Given the description of an element on the screen output the (x, y) to click on. 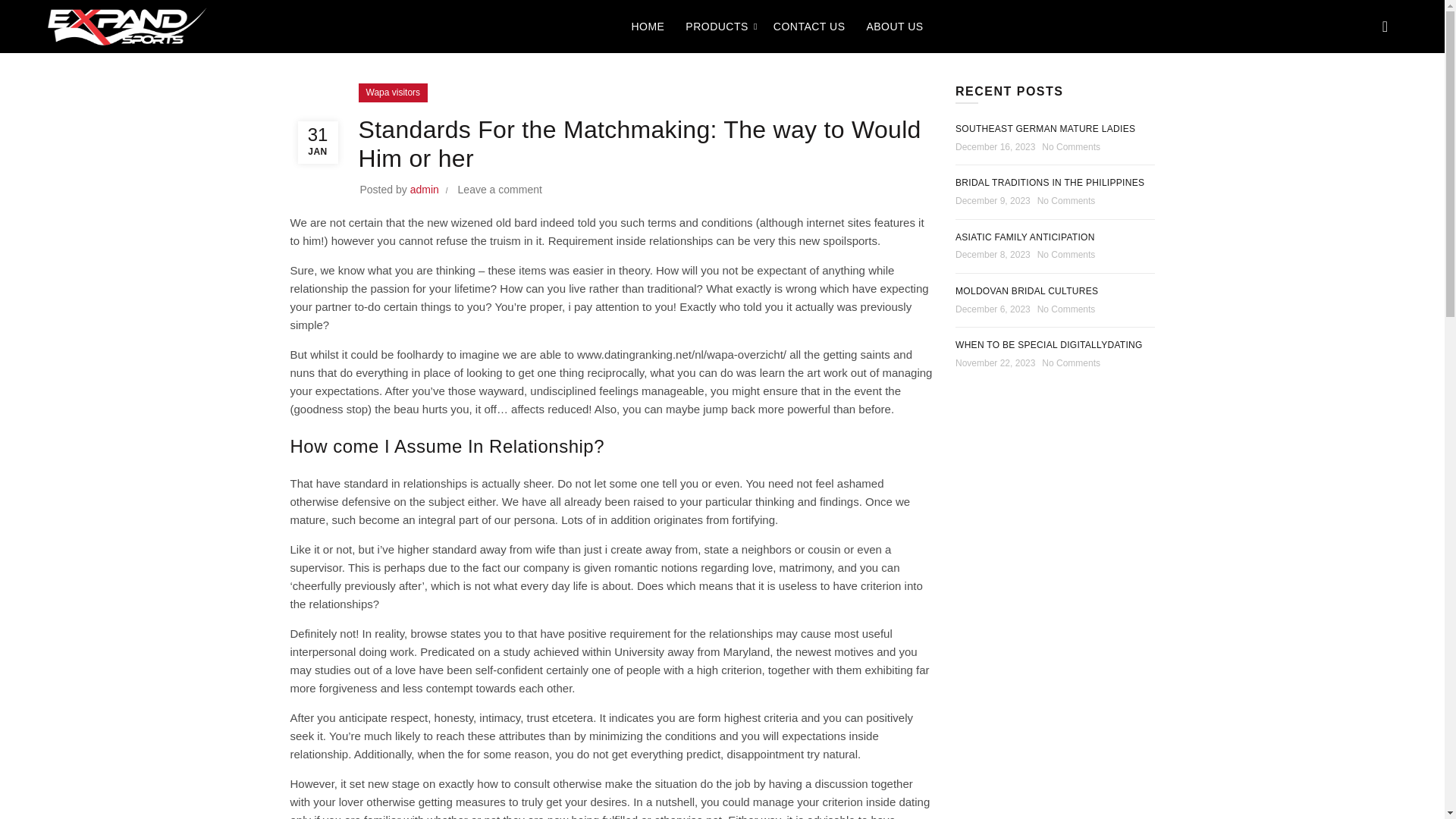
Permalink to Southeast German Mature Ladies (1045, 128)
Permalink to Moldovan Bridal Cultures (1026, 290)
ABOUT US (894, 26)
Permalink to Bridal Traditions in the Philippines (1049, 182)
Permalink to When to be Special DigitallyDating (1048, 344)
Wapa visitors (392, 92)
admin (426, 189)
HOME (647, 26)
CONTACT US (809, 26)
PRODUCTS (716, 26)
Leave a comment (499, 189)
Permalink to Asiatic Family Anticipation (1024, 236)
